Given the description of an element on the screen output the (x, y) to click on. 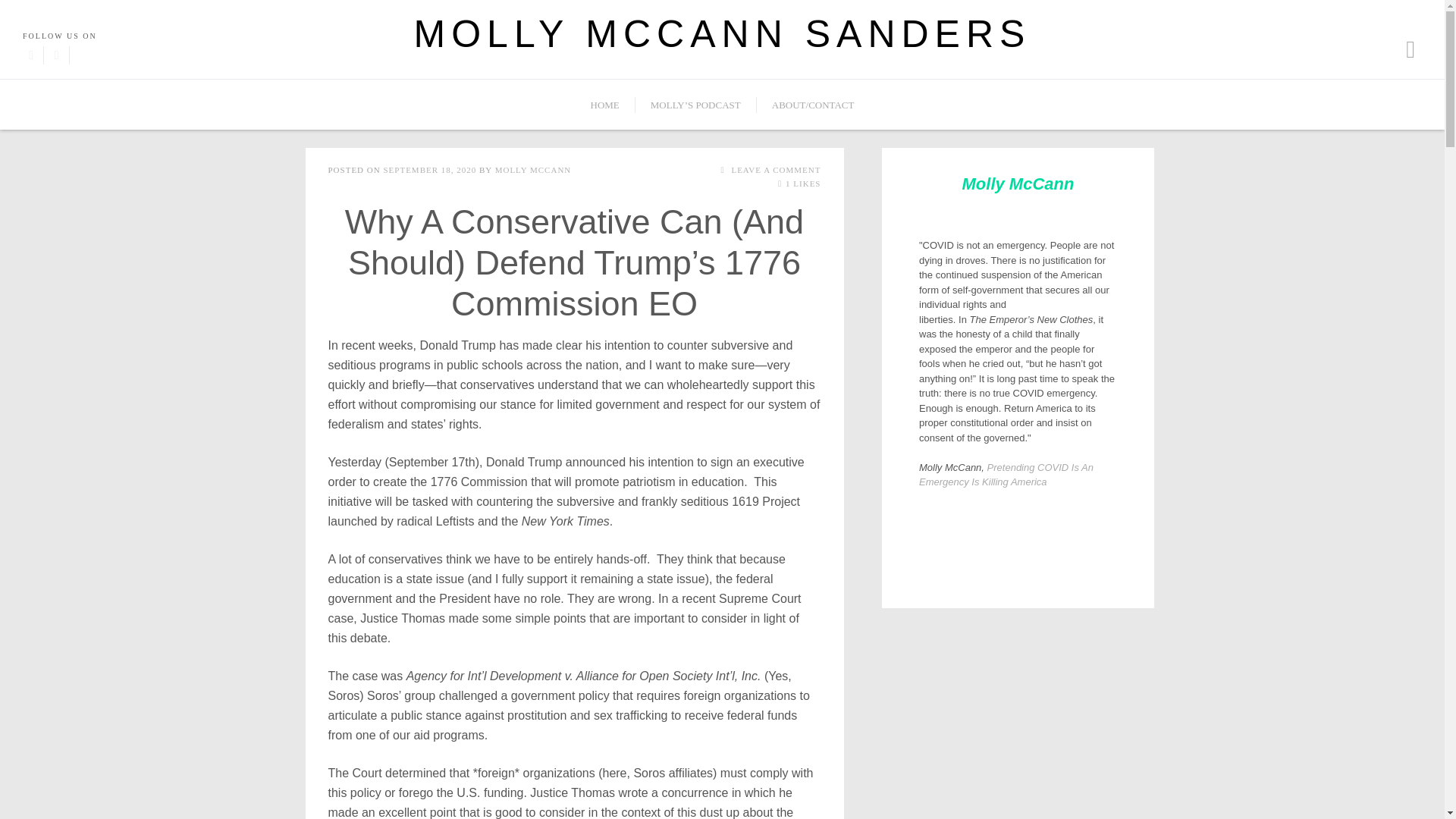
LEAVE A COMMENT (768, 169)
1 LIKES (797, 183)
MOLLY MCCANN (533, 169)
Search (111, 8)
HOME (604, 105)
Instagram (56, 54)
Pretending COVID Is An Emergency Is Killing America (1005, 474)
MOLLY MCCANN SANDERS (721, 34)
SEPTEMBER 18, 2020 (429, 169)
I like this article (780, 183)
